Given the description of an element on the screen output the (x, y) to click on. 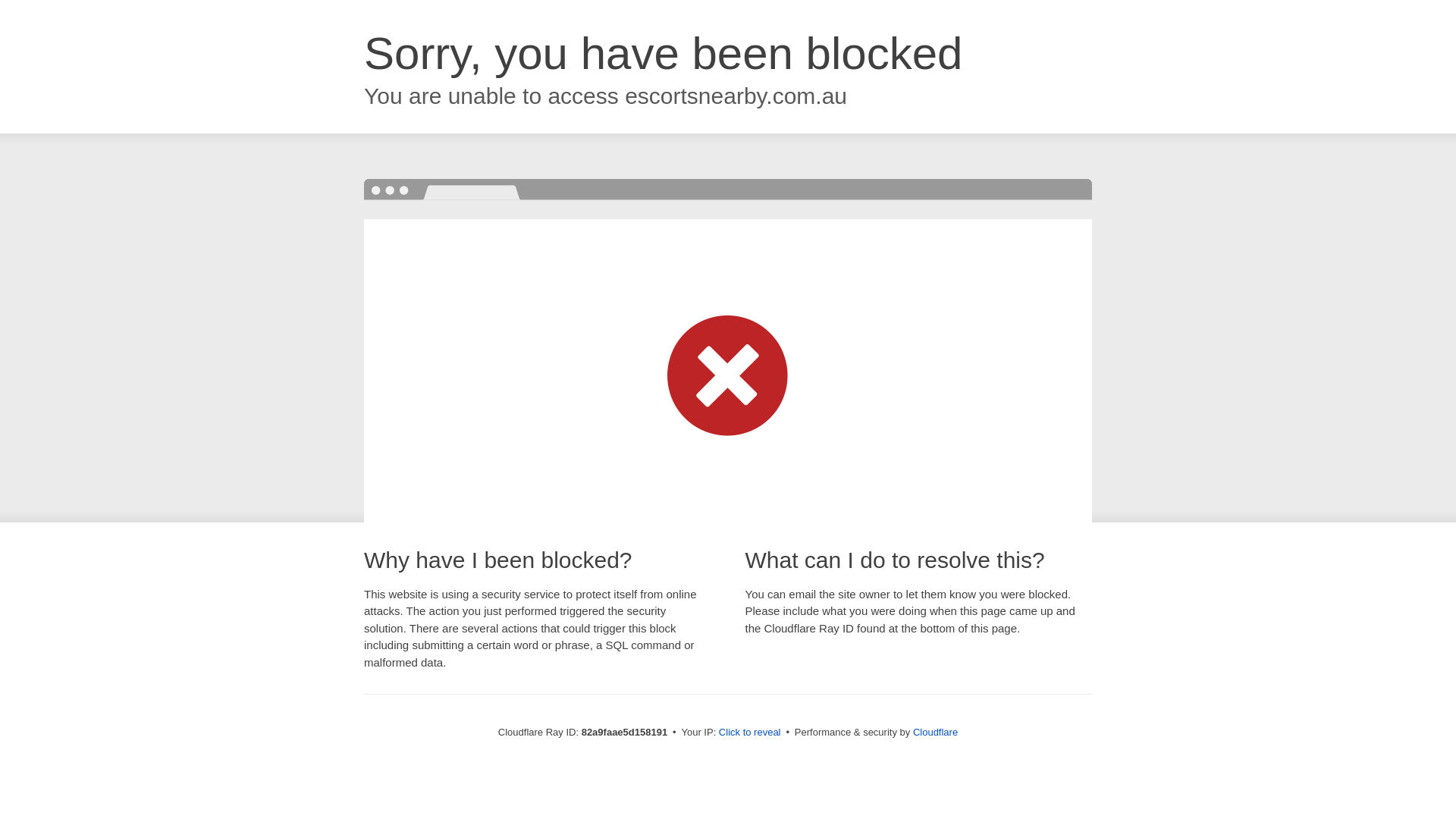
Cloudflare Element type: text (935, 731)
Click to reveal Element type: text (749, 732)
